Given the description of an element on the screen output the (x, y) to click on. 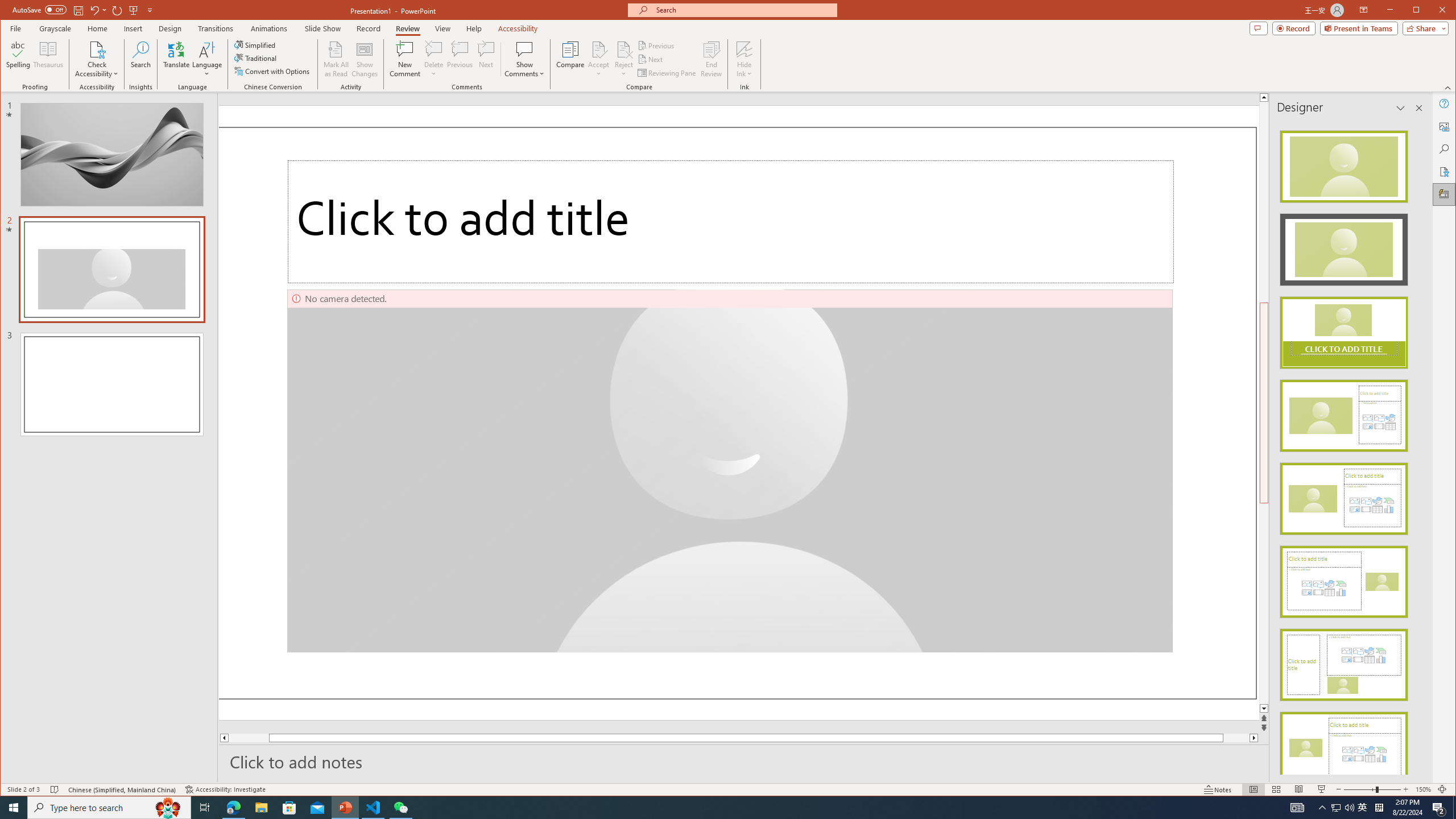
Reviewing Pane (667, 72)
Camera 4, No camera detected. (729, 470)
New Comment (405, 59)
Recommended Design: Design Idea (1343, 163)
